Given the description of an element on the screen output the (x, y) to click on. 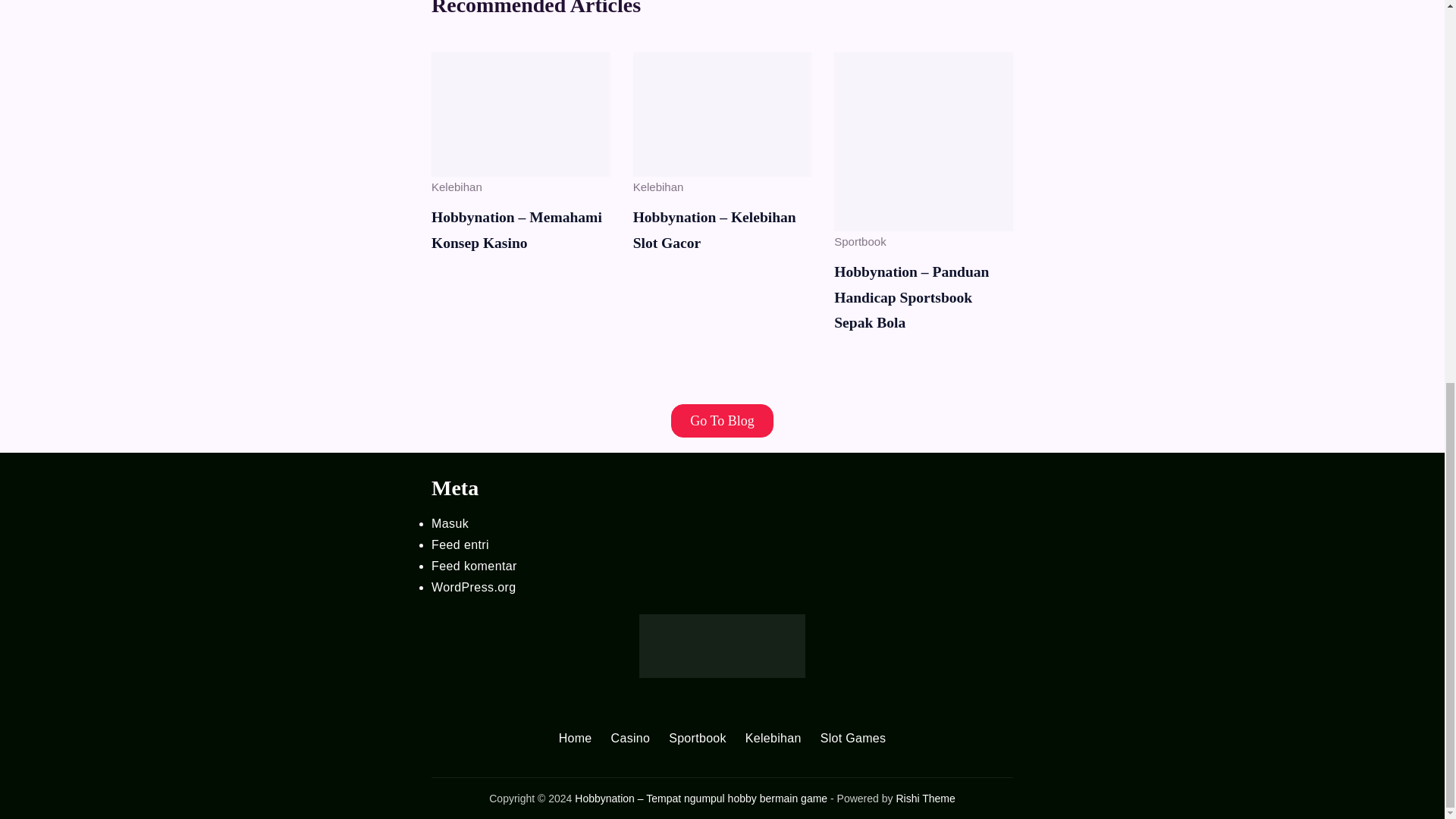
Feed komentar (473, 565)
Masuk (449, 522)
Go To Blog (722, 420)
Kelebihan (658, 186)
Sportbook (859, 241)
Kelebihan (455, 186)
Feed entri (459, 544)
WordPress.org (473, 586)
Home (575, 738)
